Given the description of an element on the screen output the (x, y) to click on. 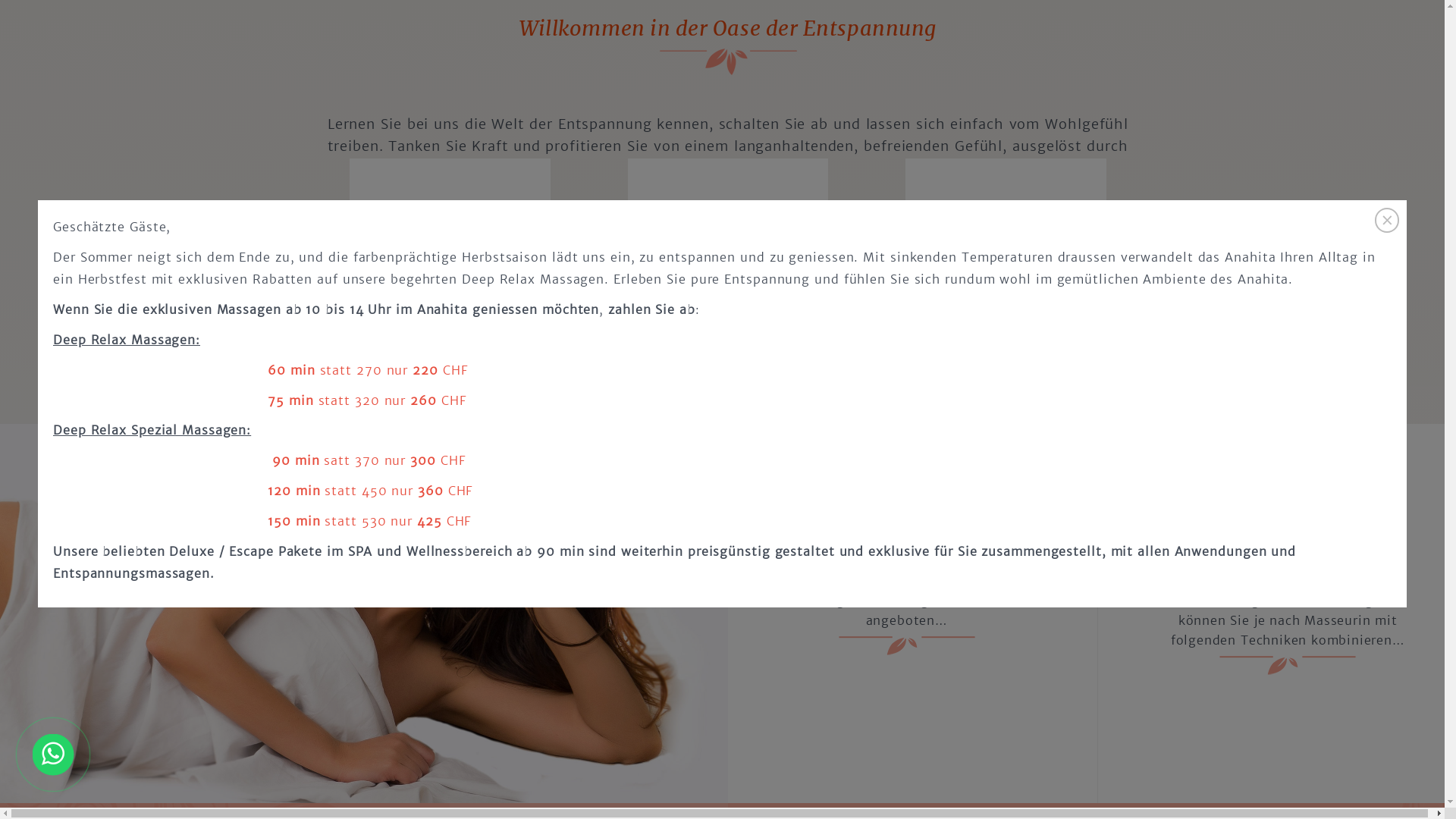
WEITER LESEN Element type: text (449, 290)
WEITER LESEN Element type: text (1005, 311)
WEITER LESEN Element type: text (727, 311)
